Given the description of an element on the screen output the (x, y) to click on. 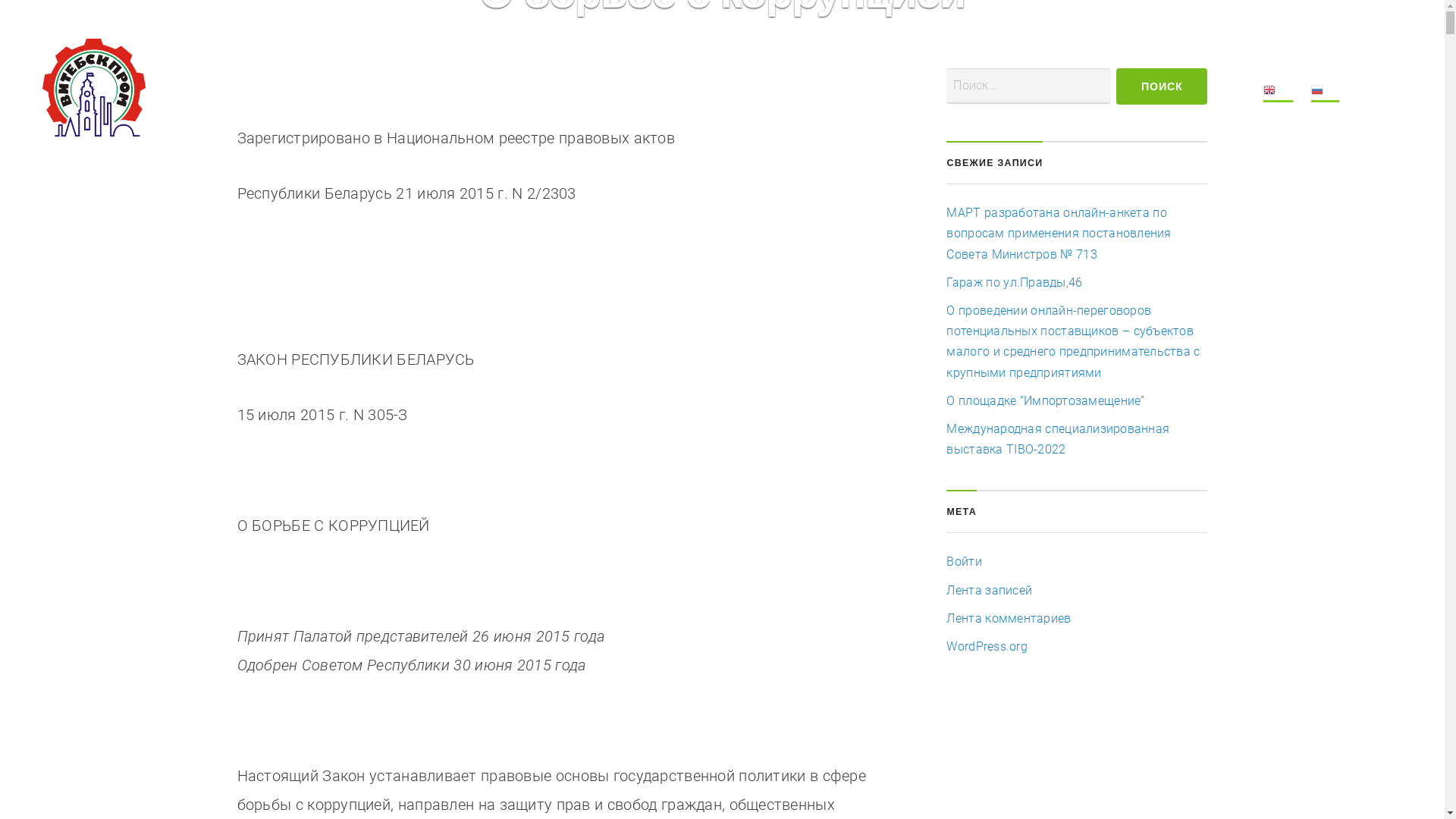
EN Element type: text (1277, 92)
WordPress.org Element type: text (986, 646)
RU Element type: text (1325, 92)
